Given the description of an element on the screen output the (x, y) to click on. 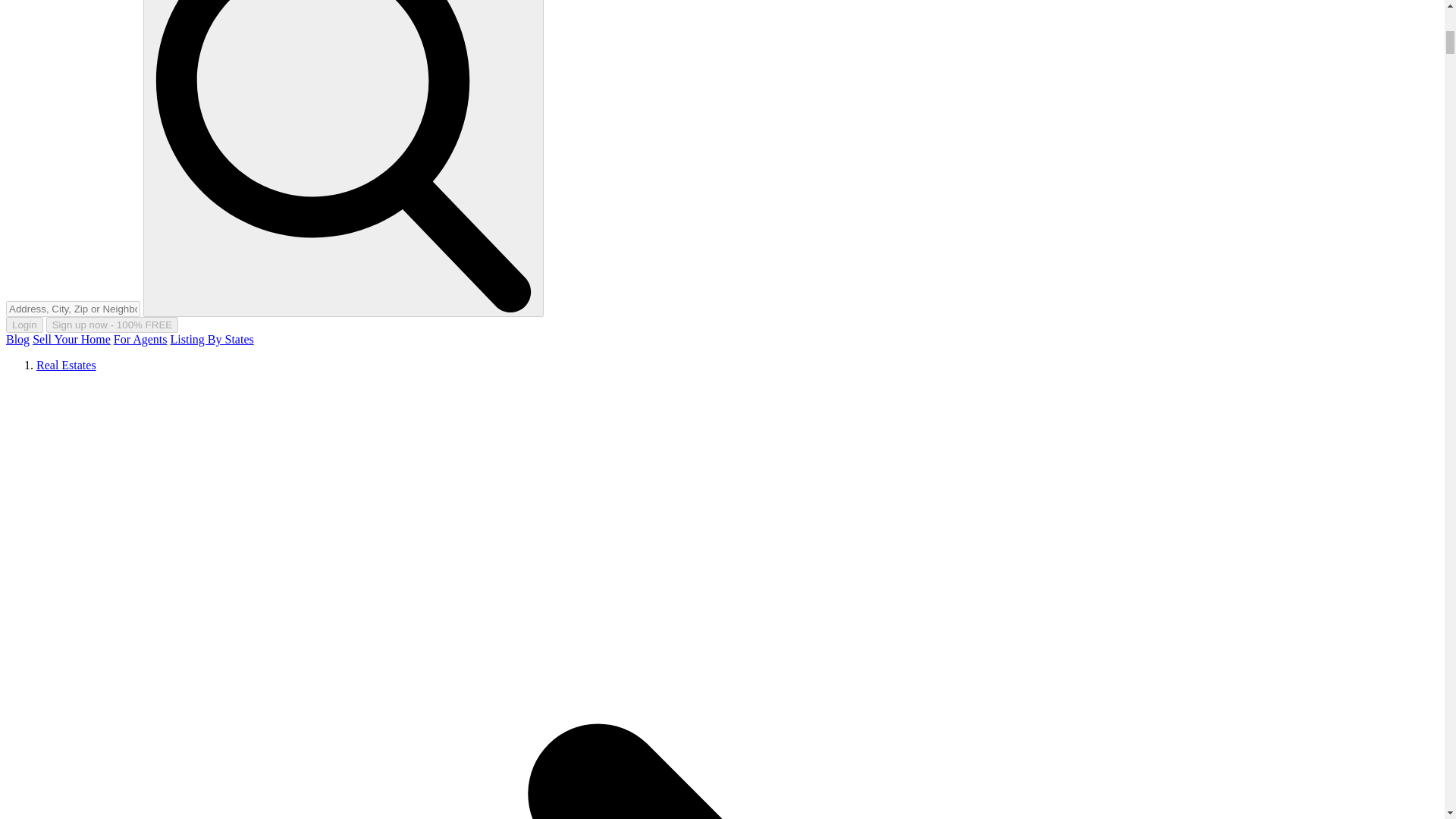
Sell Your Home (71, 338)
Listing By States (211, 338)
Login (24, 324)
For Agents (140, 338)
Real Estates (66, 364)
Blog (17, 338)
